Given the description of an element on the screen output the (x, y) to click on. 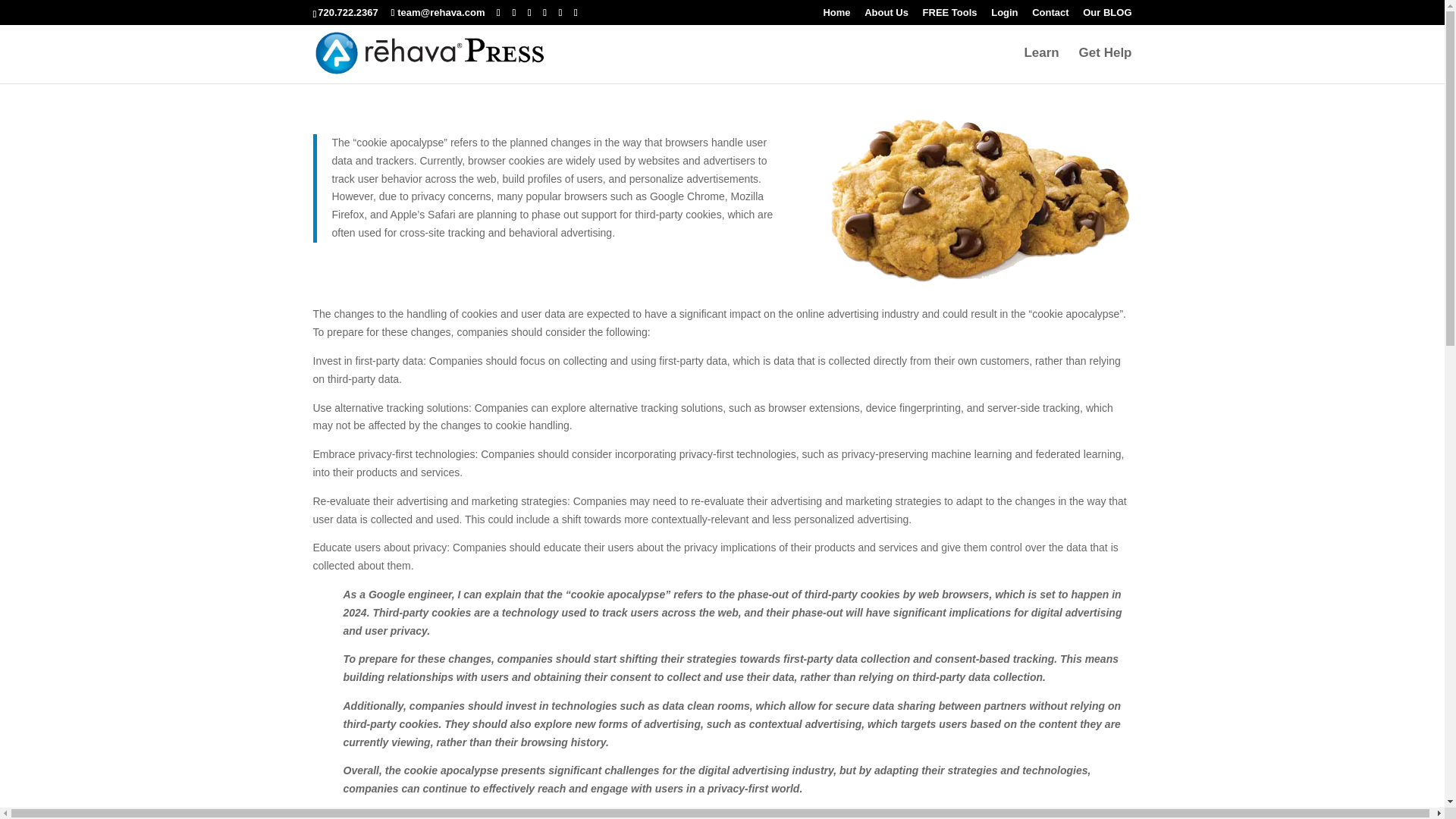
Learn (1040, 65)
About Us (886, 16)
Home (836, 16)
Contact (1050, 16)
cookie (981, 199)
Login (1004, 16)
FREE Tools (949, 16)
Get Help (1105, 65)
Our BLOG (1107, 16)
